Given the description of an element on the screen output the (x, y) to click on. 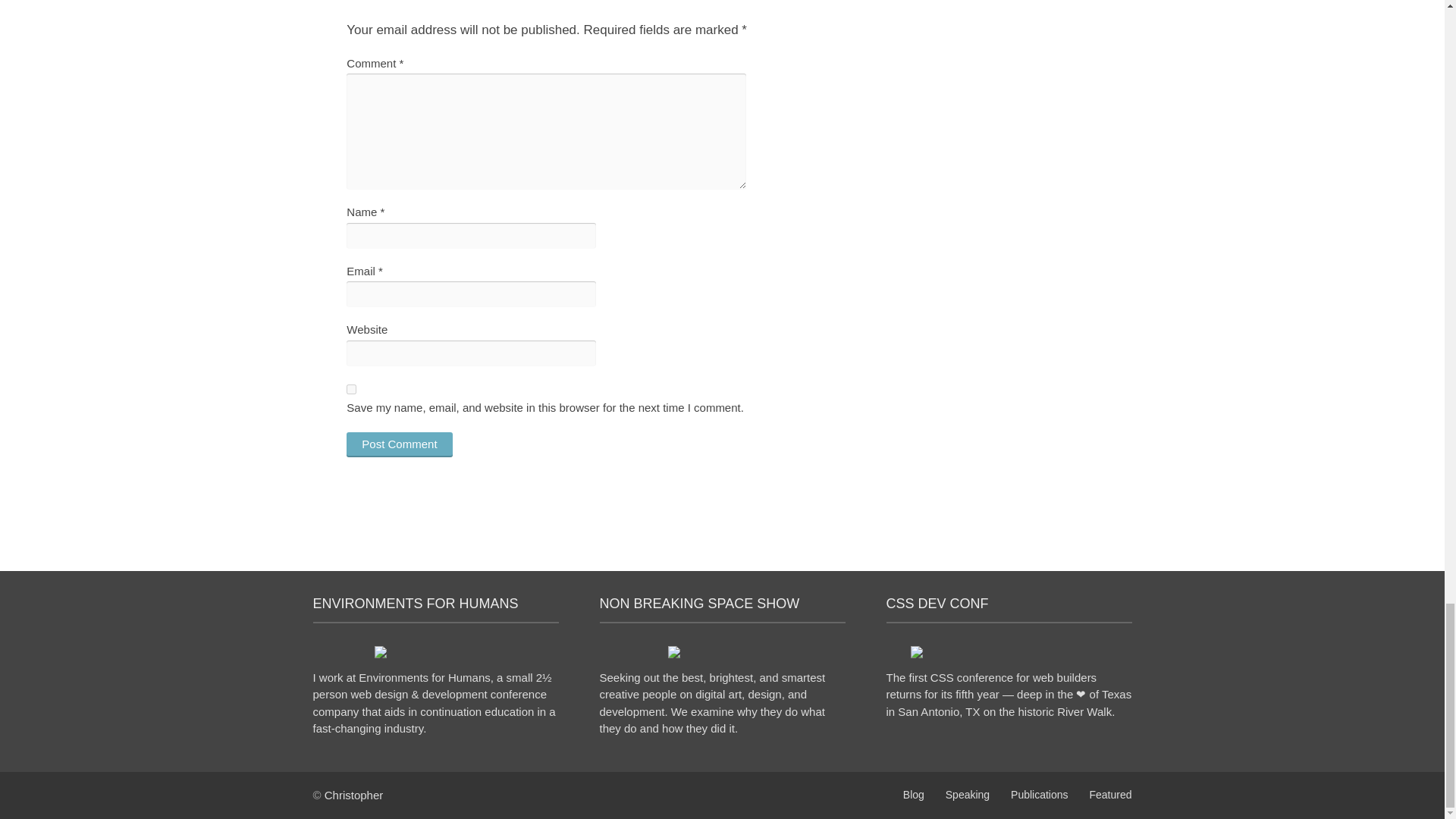
Post Comment (398, 444)
yes (351, 388)
Post Comment (398, 444)
